Given the description of an element on the screen output the (x, y) to click on. 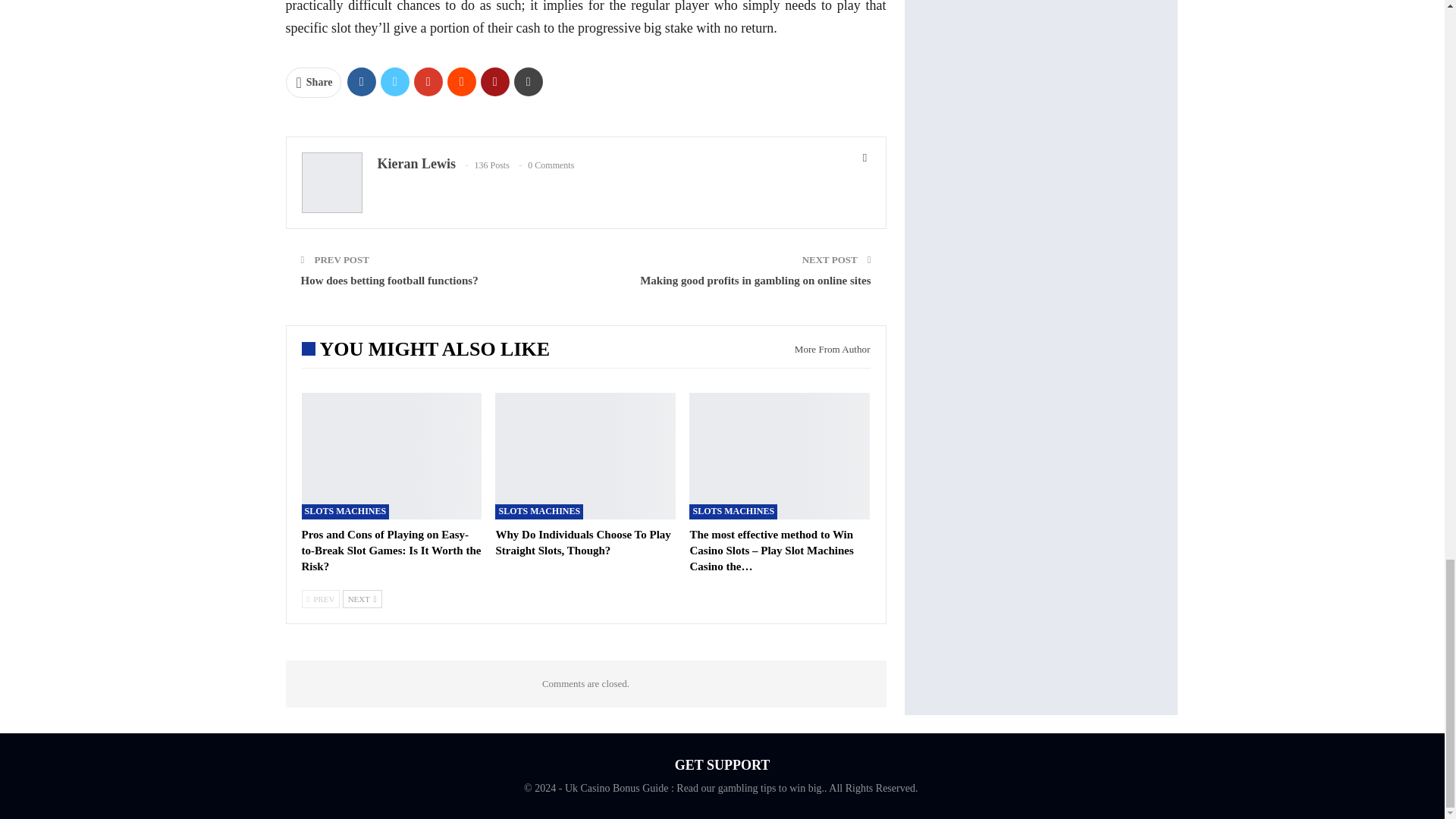
Previous (320, 598)
Next (361, 598)
Why Do Individuals Choose To Play Straight Slots, Though? (585, 456)
Why Do Individuals Choose To Play Straight Slots, Though? (582, 542)
